Given the description of an element on the screen output the (x, y) to click on. 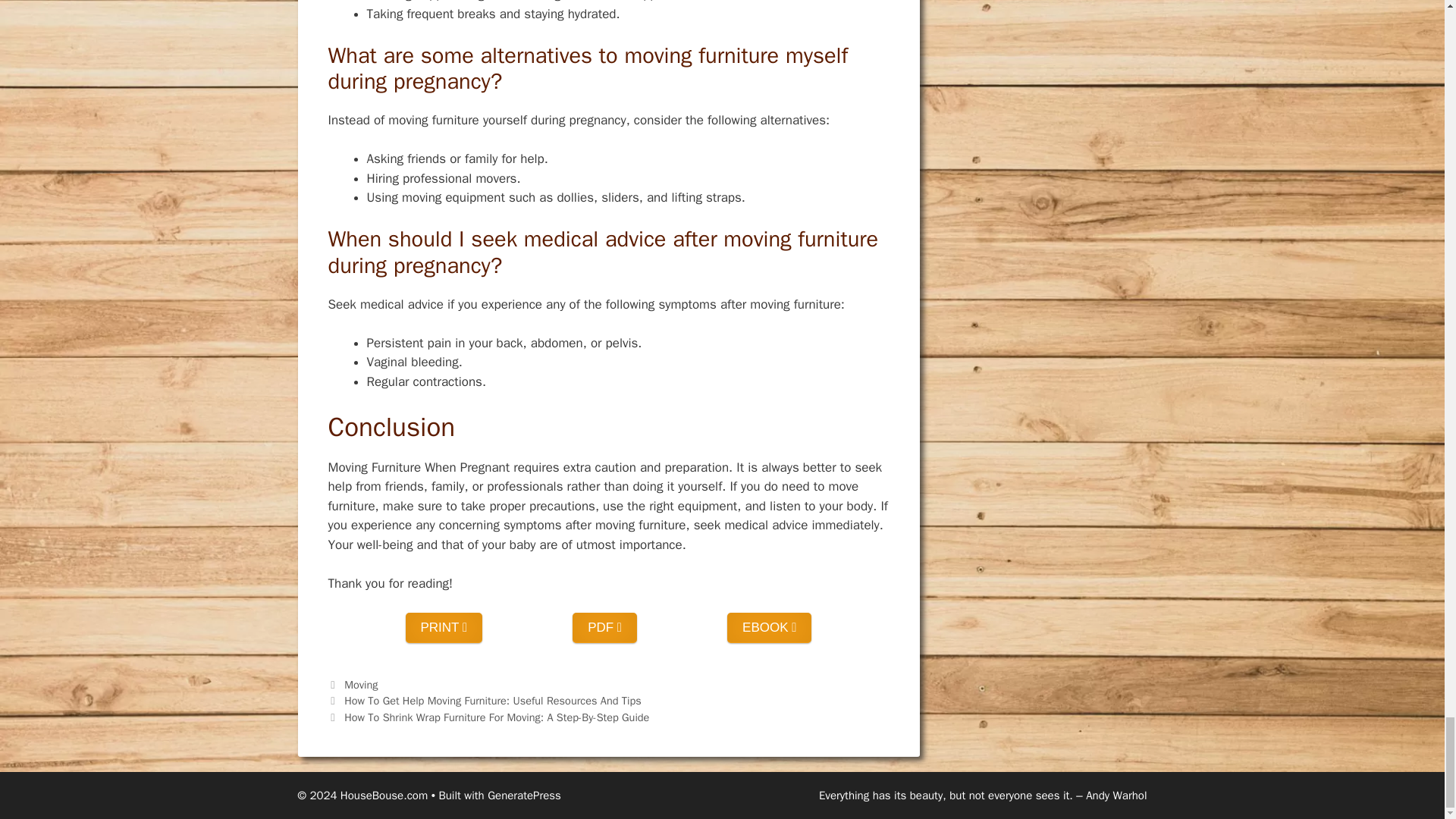
How To Get Help Moving Furniture: Useful Resources And Tips (492, 700)
Moving (360, 684)
